Given the description of an element on the screen output the (x, y) to click on. 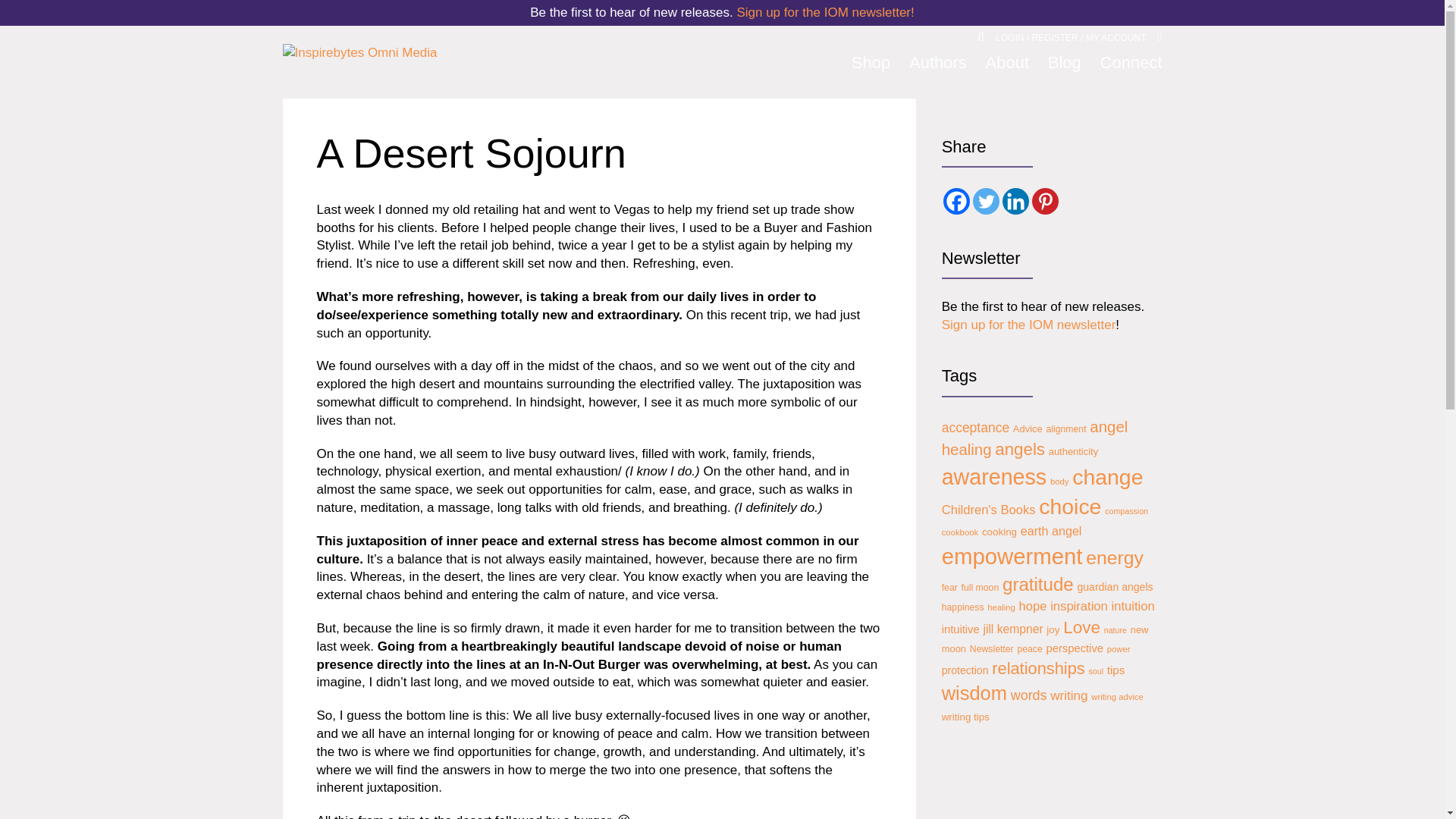
angel healing (1035, 438)
Pinterest (1045, 201)
Sign up for the IOM newsletter! (825, 12)
angels (1019, 449)
Linkedin (1016, 201)
cookbook (960, 532)
Children's Books (988, 509)
cooking (998, 532)
earth angel (1050, 531)
Connect (1130, 62)
Advice (1027, 428)
body (1058, 481)
change (1106, 477)
Twitter (985, 201)
alignment (1065, 429)
